Given the description of an element on the screen output the (x, y) to click on. 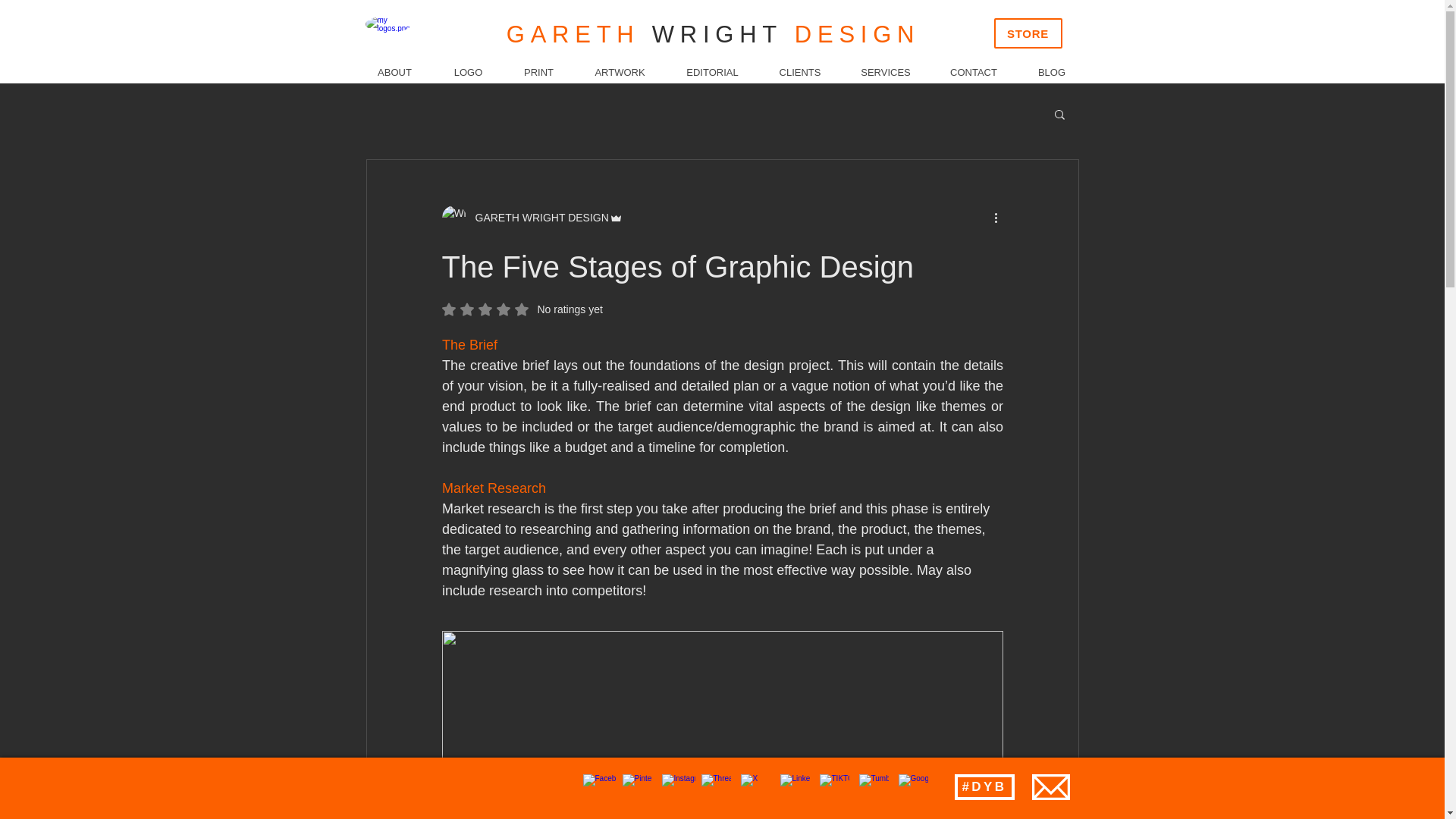
ABOUT (394, 72)
EDITORIAL (711, 72)
GARETH WRIGHT DESIGN (536, 217)
GARETH (579, 34)
SERVICES (885, 72)
CONTACT (973, 72)
BLOG (1051, 72)
DESIGN (850, 34)
ARTWORK (619, 72)
